Given the description of an element on the screen output the (x, y) to click on. 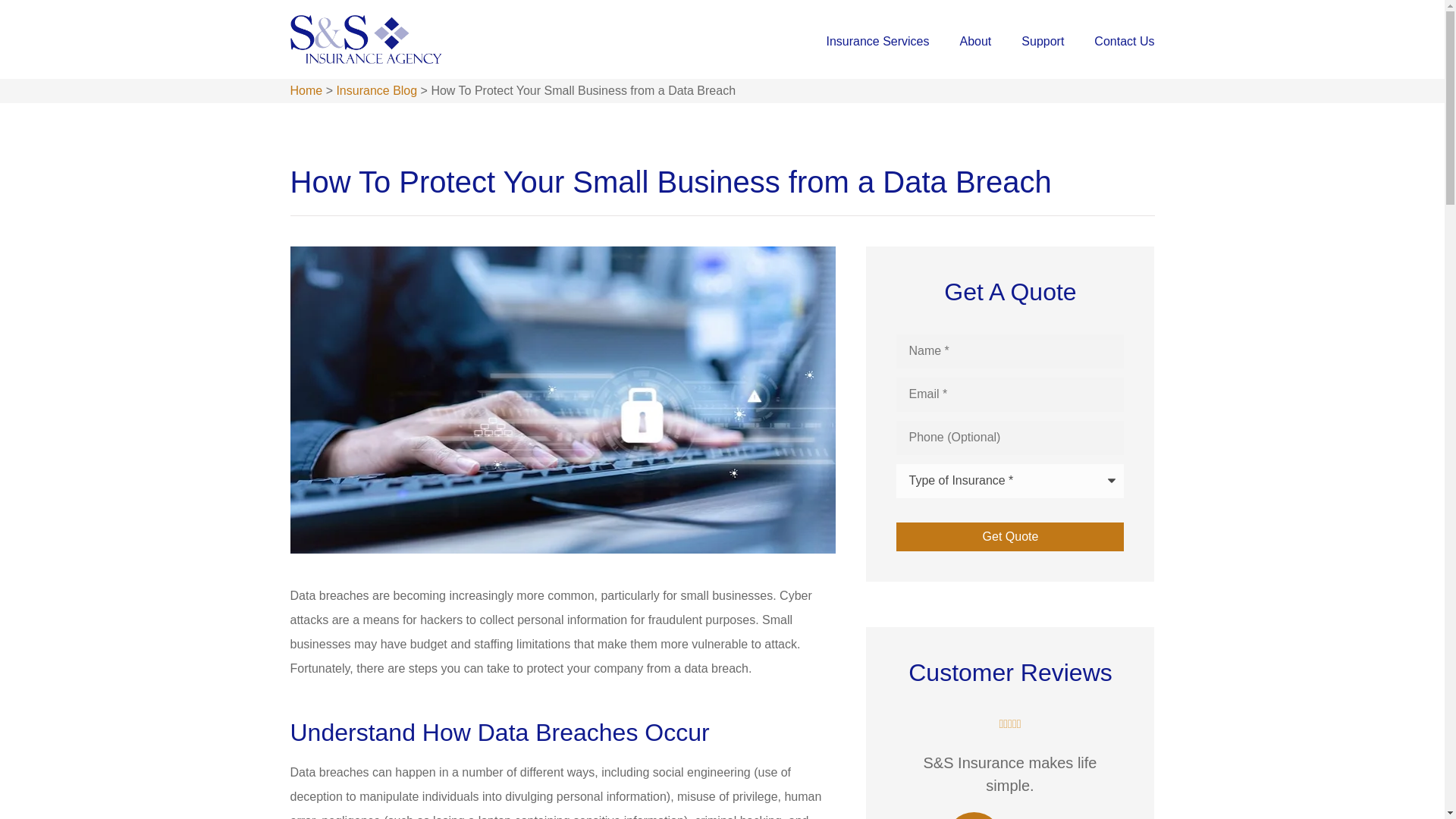
Insurance Services (876, 41)
About (975, 41)
Get Quote (1010, 536)
Support (1043, 41)
